Given the description of an element on the screen output the (x, y) to click on. 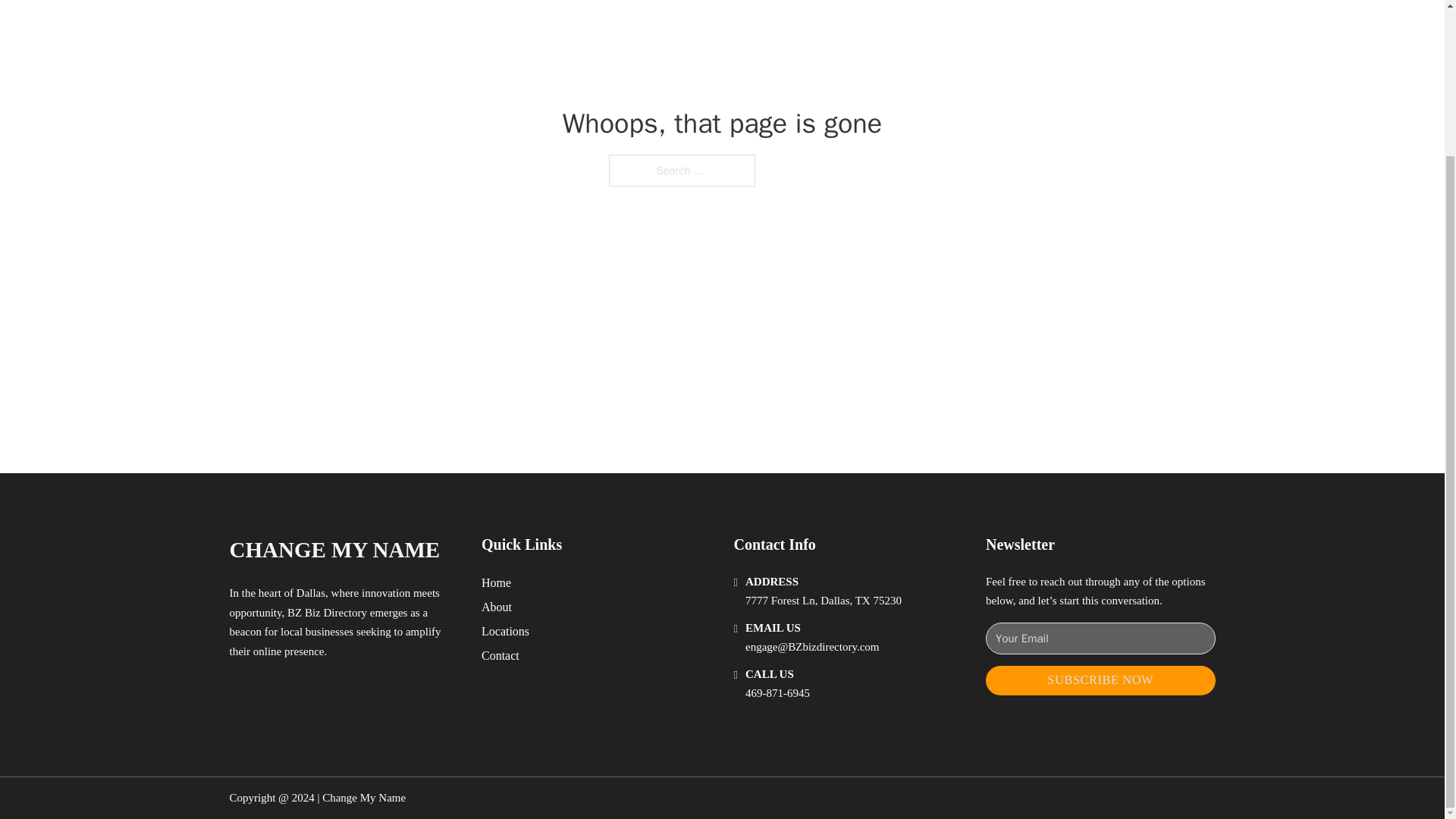
Contact (500, 655)
SUBSCRIBE NOW (1100, 680)
469-871-6945 (777, 693)
Locations (505, 630)
CHANGE MY NAME (333, 549)
About (496, 607)
Home (496, 582)
